Given the description of an element on the screen output the (x, y) to click on. 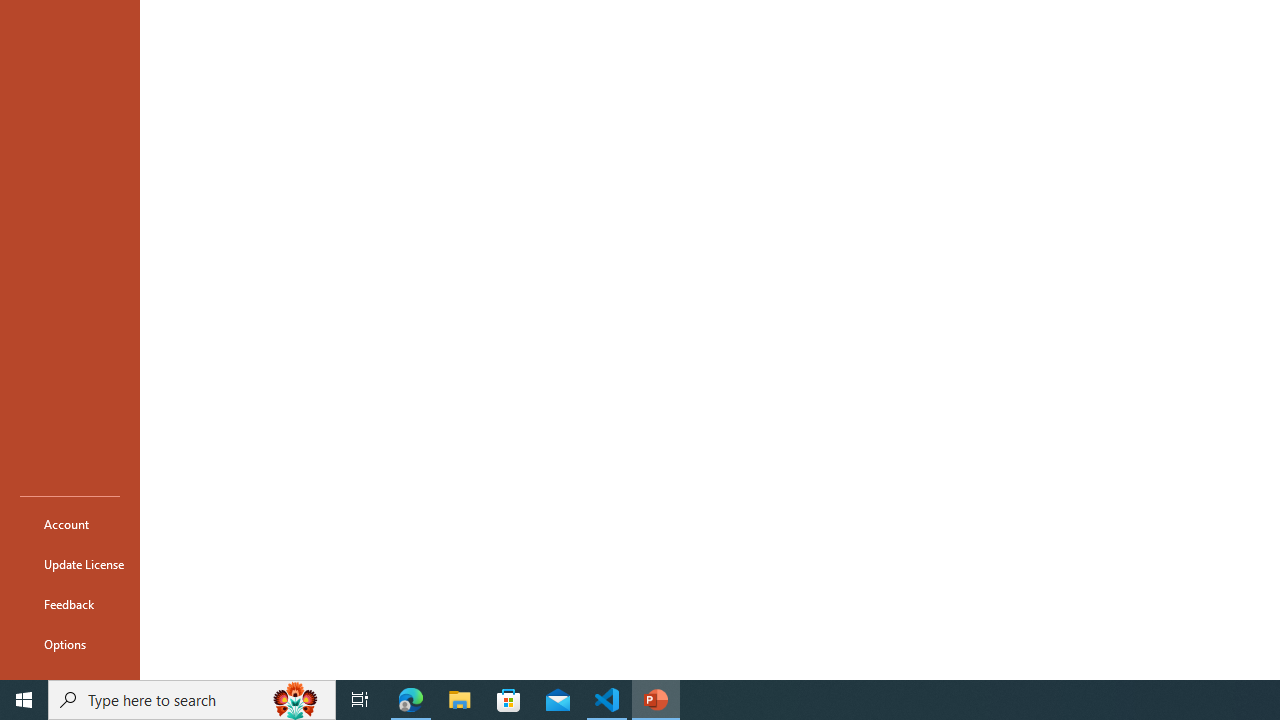
Feedback (69, 603)
Options (69, 643)
Update License (69, 563)
Account (69, 523)
